Given the description of an element on the screen output the (x, y) to click on. 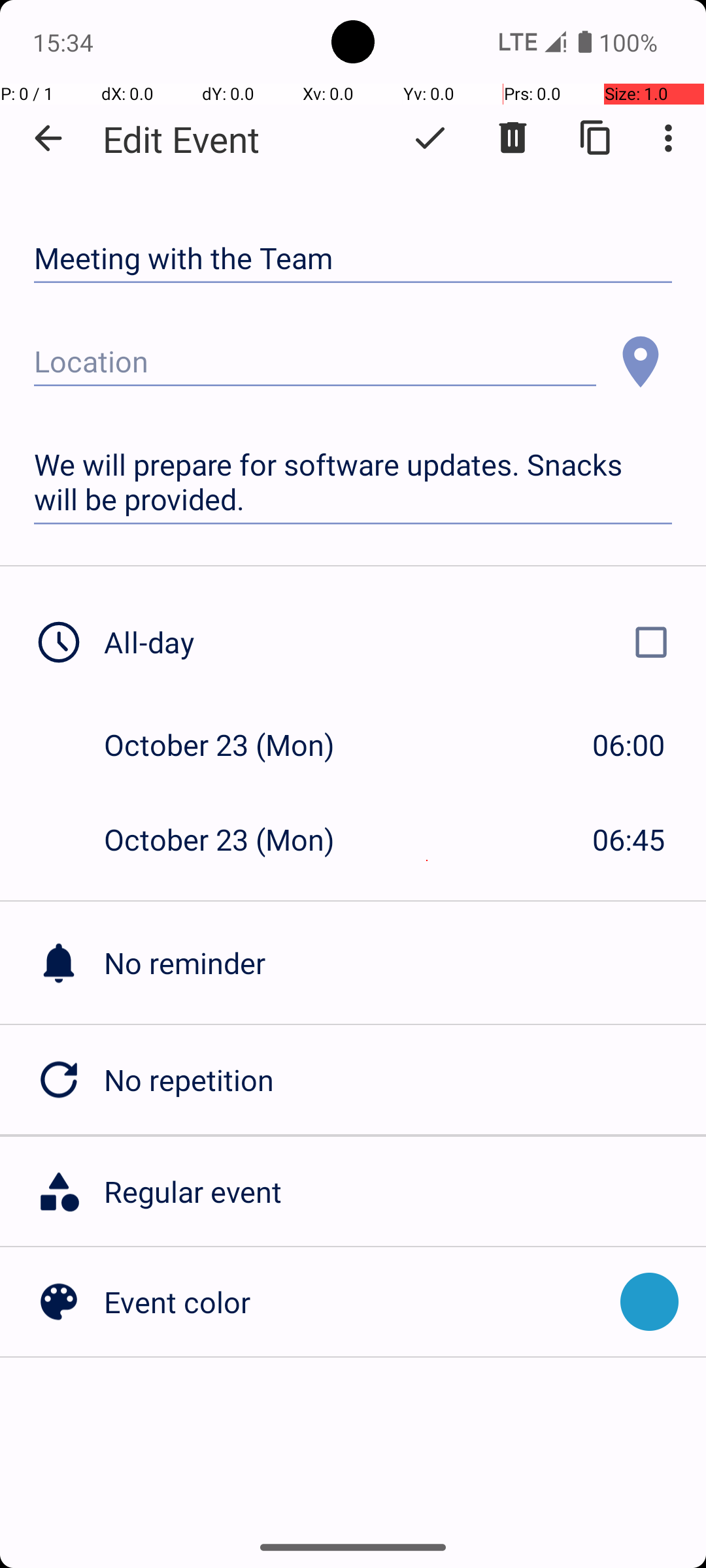
Meeting with the Team Element type: android.widget.EditText (352, 258)
We will prepare for software updates. Snacks will be provided. Element type: android.widget.EditText (352, 482)
October 23 (Mon) Element type: android.widget.TextView (232, 744)
06:00 Element type: android.widget.TextView (628, 744)
06:45 Element type: android.widget.TextView (628, 838)
